Given the description of an element on the screen output the (x, y) to click on. 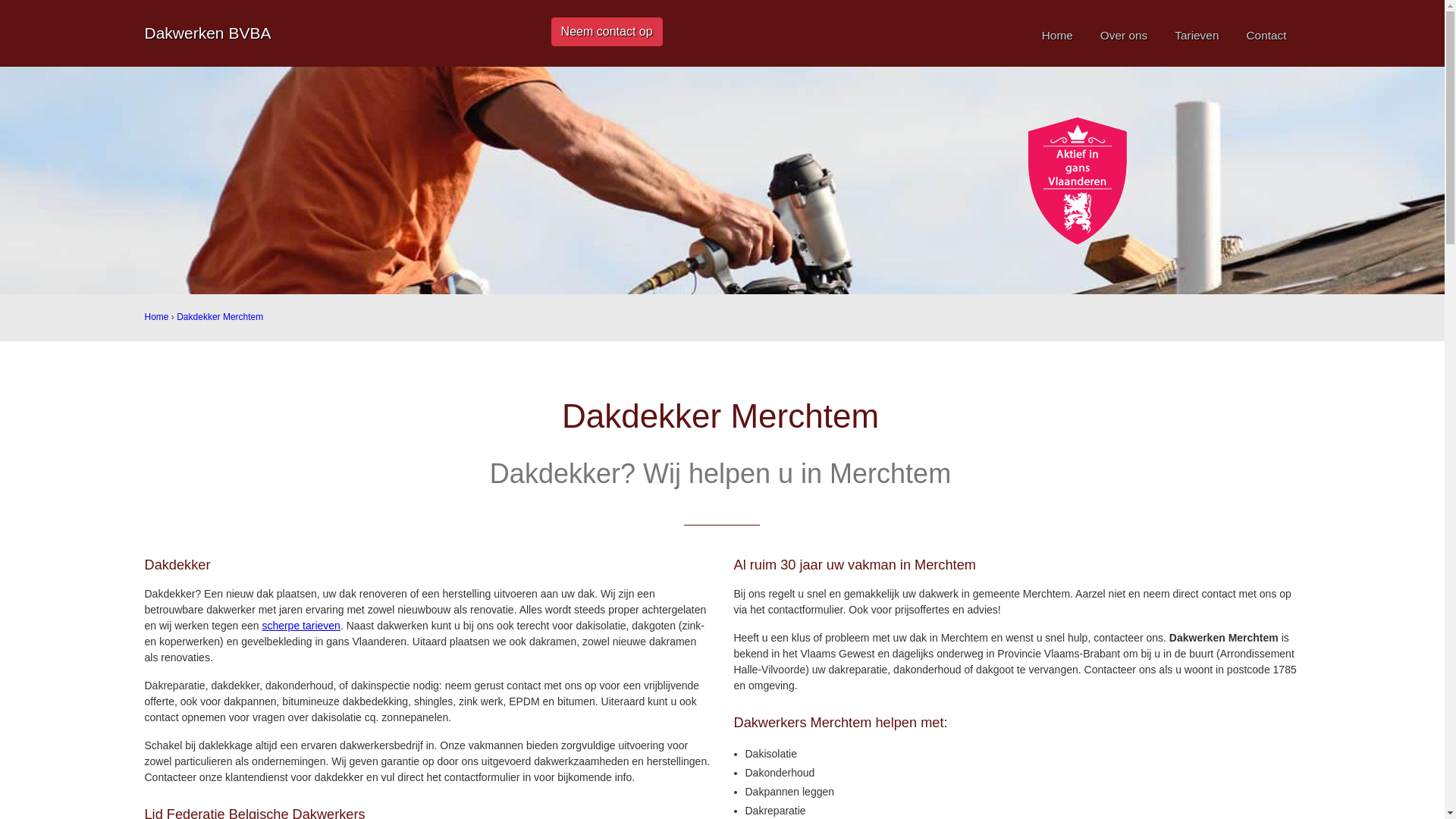
Over ons Element type: text (1123, 34)
Tarieven Element type: text (1196, 34)
Dakdekker Merchtem Element type: text (219, 316)
Neem contact op Element type: text (606, 31)
scherpe tarieven Element type: text (300, 625)
Contact Element type: text (1265, 34)
Home Element type: text (156, 316)
Dakwerken BVBA Element type: text (207, 32)
Home Element type: text (1057, 34)
